Given the description of an element on the screen output the (x, y) to click on. 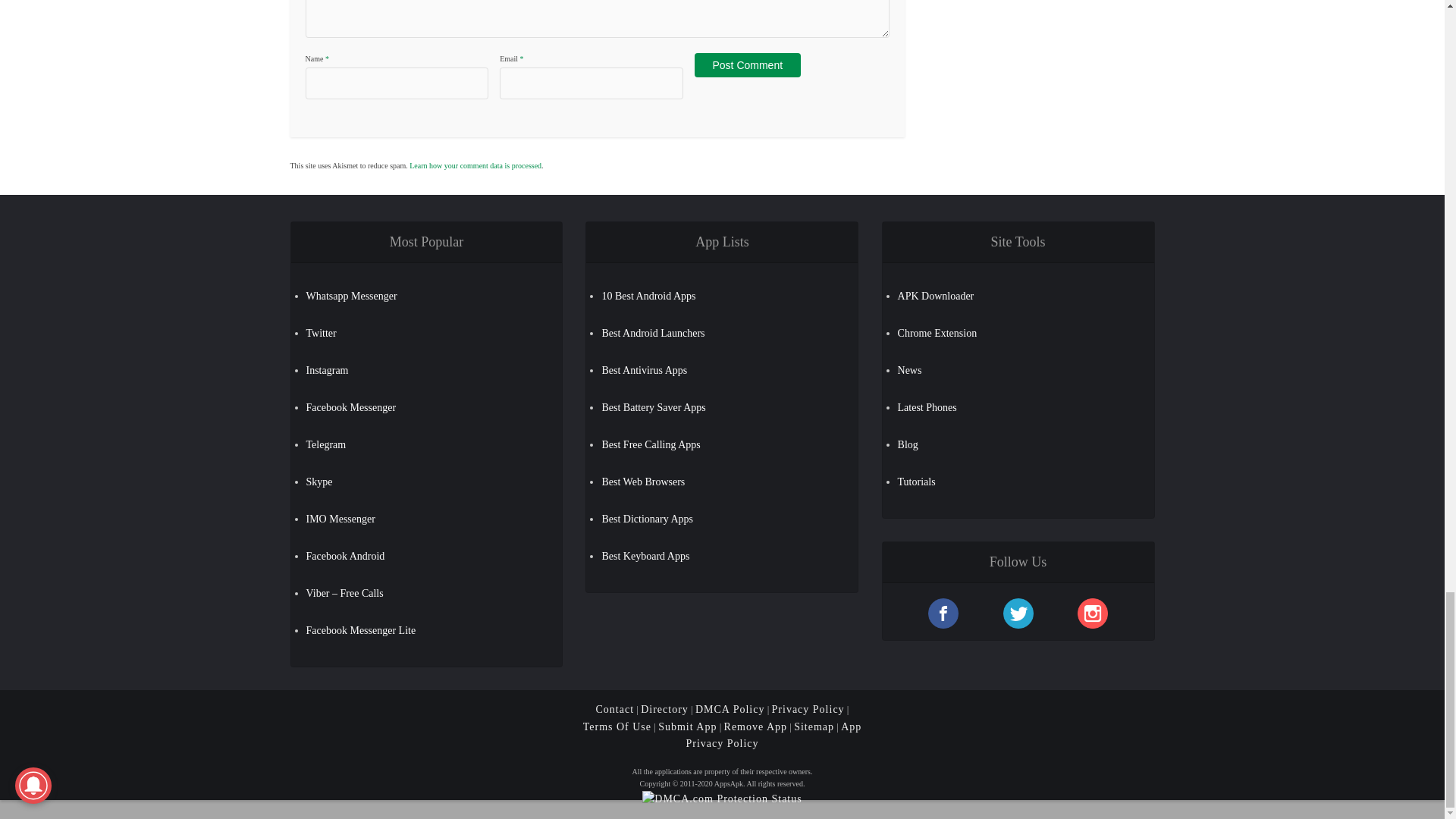
Learn how your comment data is processed (475, 165)
Post Comment (747, 64)
Post Comment (747, 64)
